Given the description of an element on the screen output the (x, y) to click on. 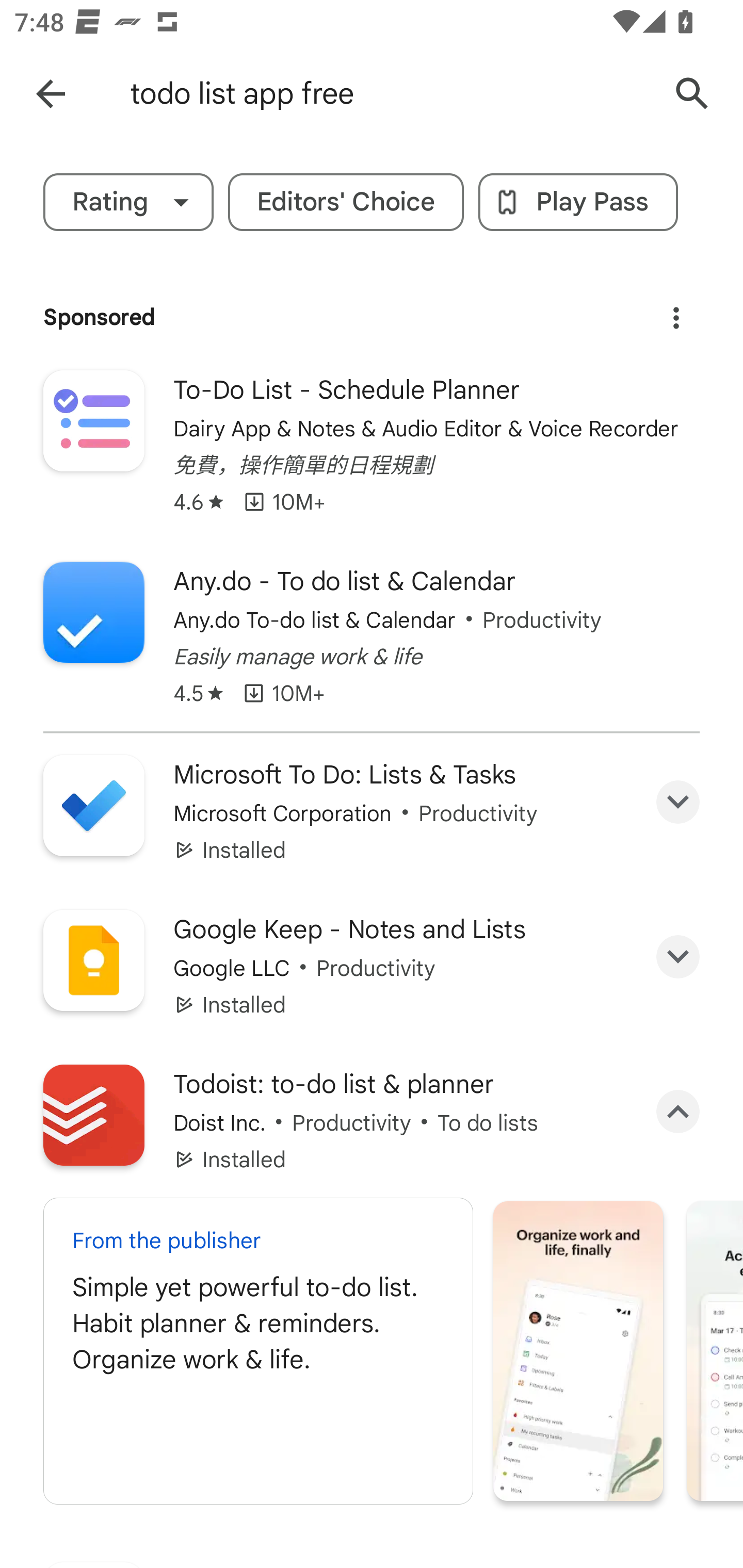
todo list app free (389, 93)
Navigate up (50, 93)
Search Google Play (692, 93)
Rating - double tap to change the filter (128, 202)
Editors' Choice - double tap to toggle the filter (345, 202)
Play Pass - double tap to toggle the filter (577, 202)
About this ad (676, 311)
Expand content for Microsoft To Do: Lists & Tasks (677, 801)
Expand content for Google Keep - Notes and Lists (677, 957)
Collapse content for Todoist: to-do list & planner (677, 1111)
Screenshot "1" of "8" (577, 1350)
